Given the description of an element on the screen output the (x, y) to click on. 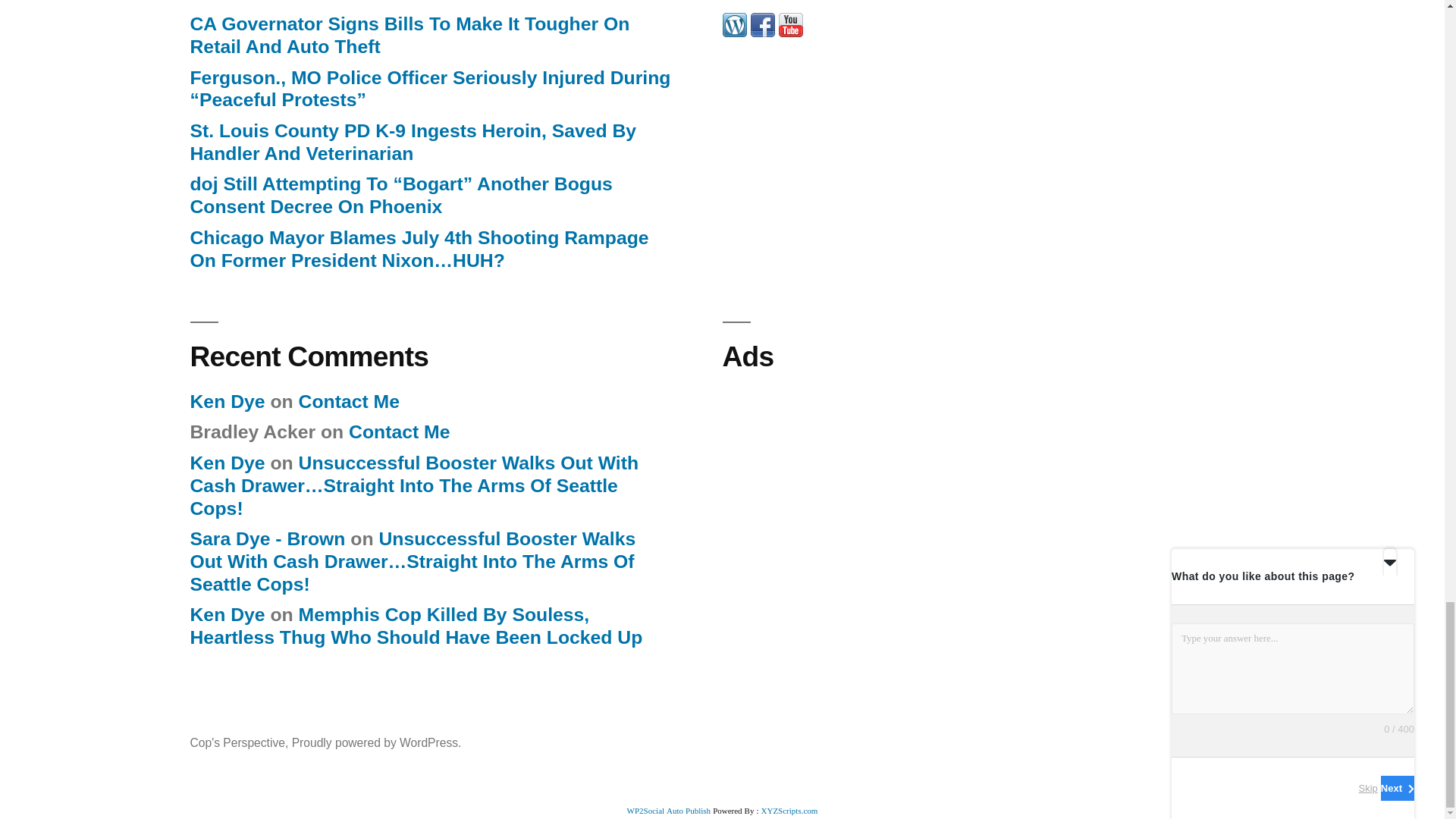
WP2Social Auto Publish (669, 810)
WordPress.com Blog (733, 31)
YouTube Channel (789, 31)
Connect on Facebook (762, 31)
